Given the description of an element on the screen output the (x, y) to click on. 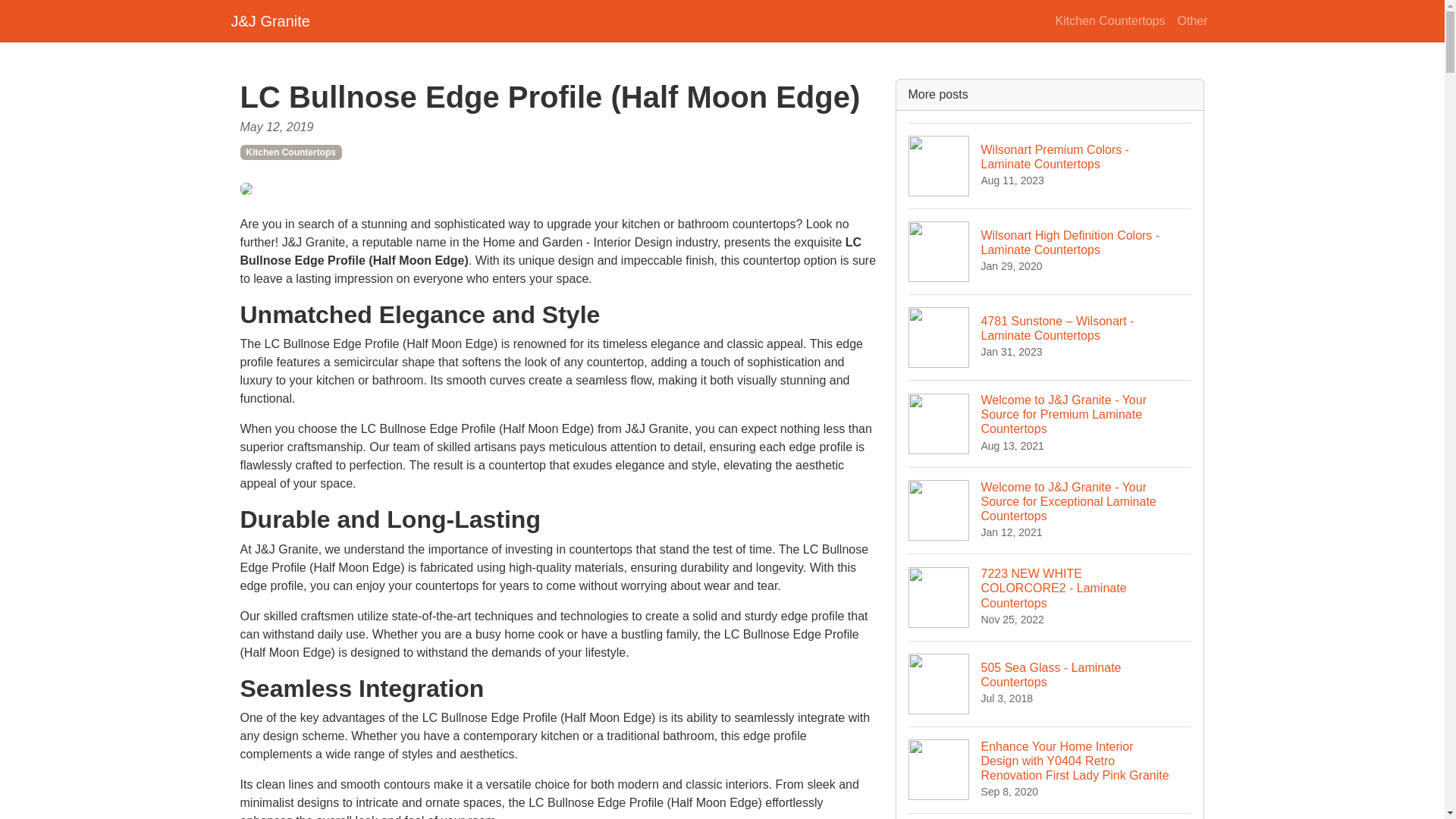
Kitchen Countertops (1050, 816)
Other (1050, 165)
Kitchen Countertops (290, 151)
